Given the description of an element on the screen output the (x, y) to click on. 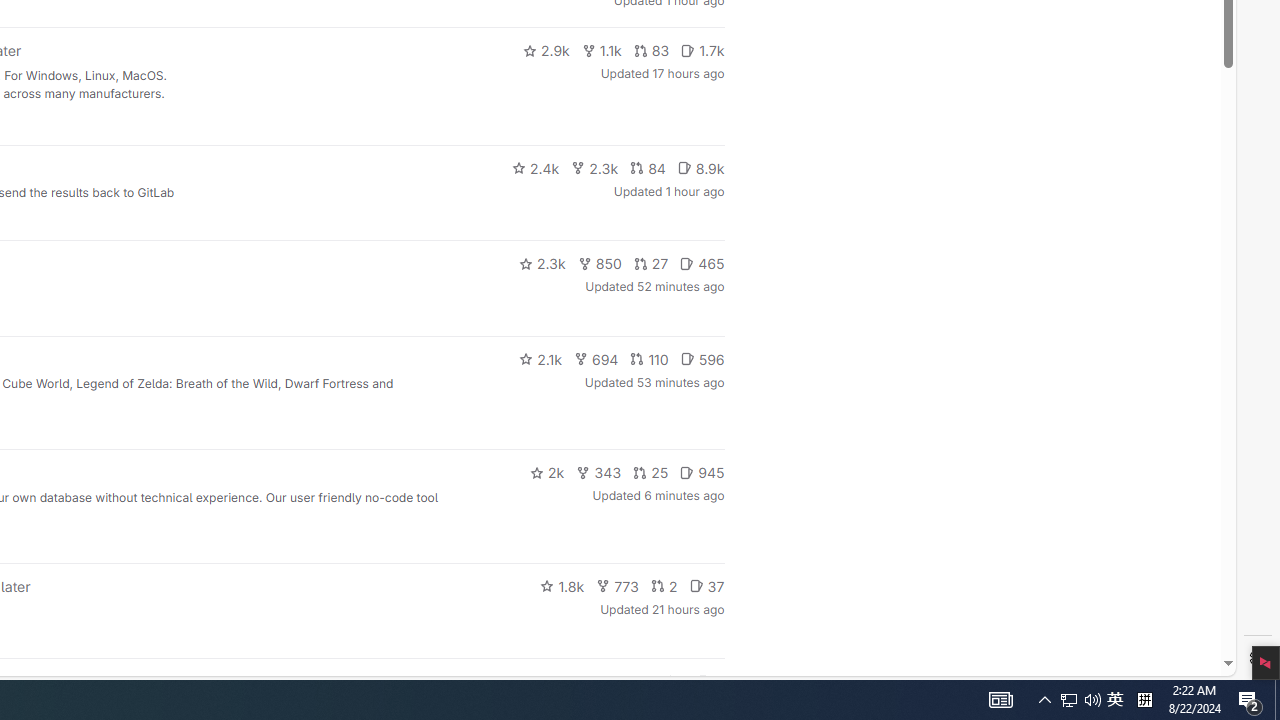
25 (651, 472)
1.8k (562, 585)
110 (649, 358)
1.7k (702, 50)
2 (664, 585)
143 (629, 681)
27 (651, 263)
465 (701, 263)
37 (706, 585)
84 (647, 167)
694 (596, 358)
2.3k (541, 263)
850 (599, 263)
2.4k (535, 167)
